Given the description of an element on the screen output the (x, y) to click on. 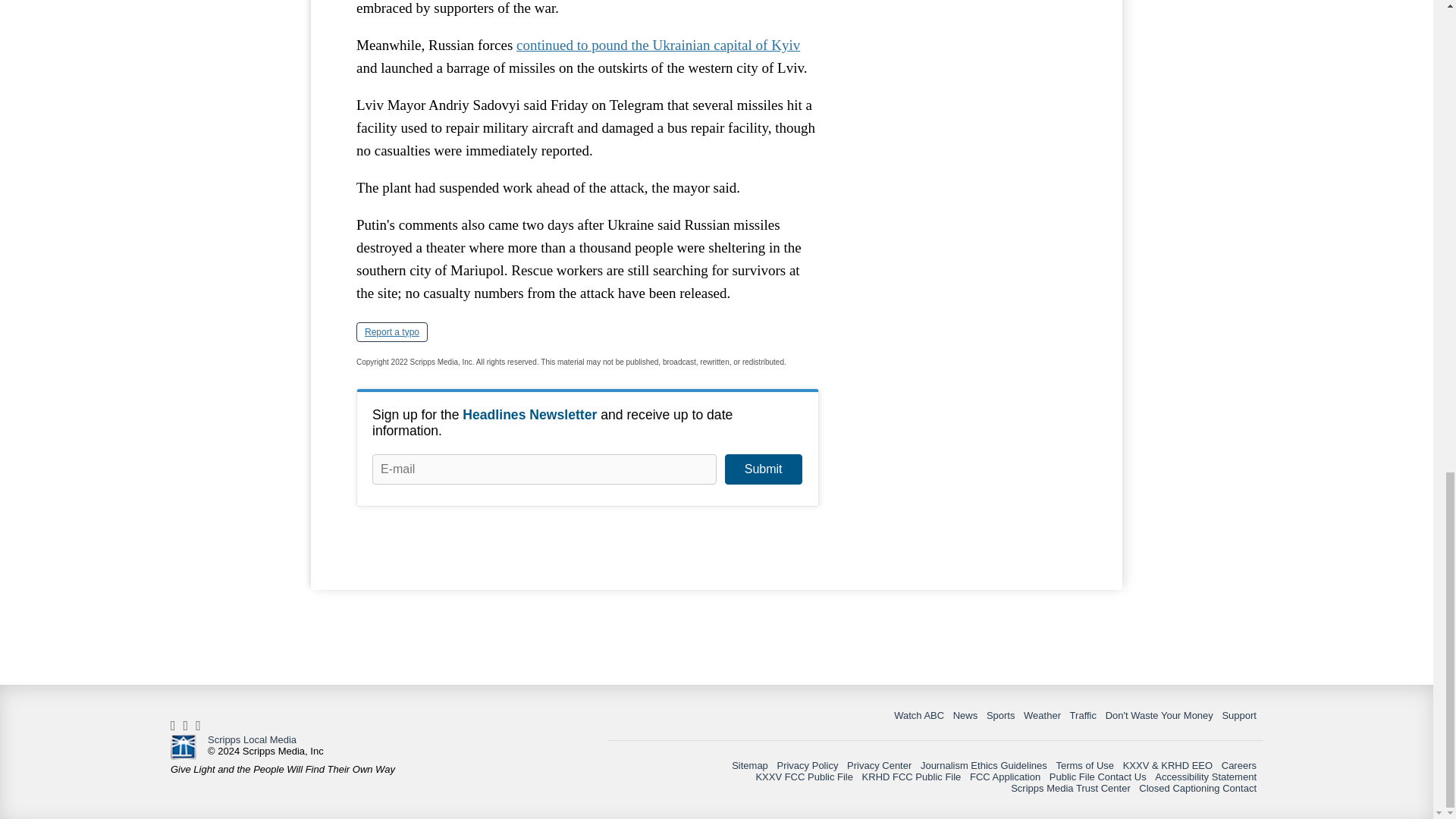
Submit (763, 469)
